Given the description of an element on the screen output the (x, y) to click on. 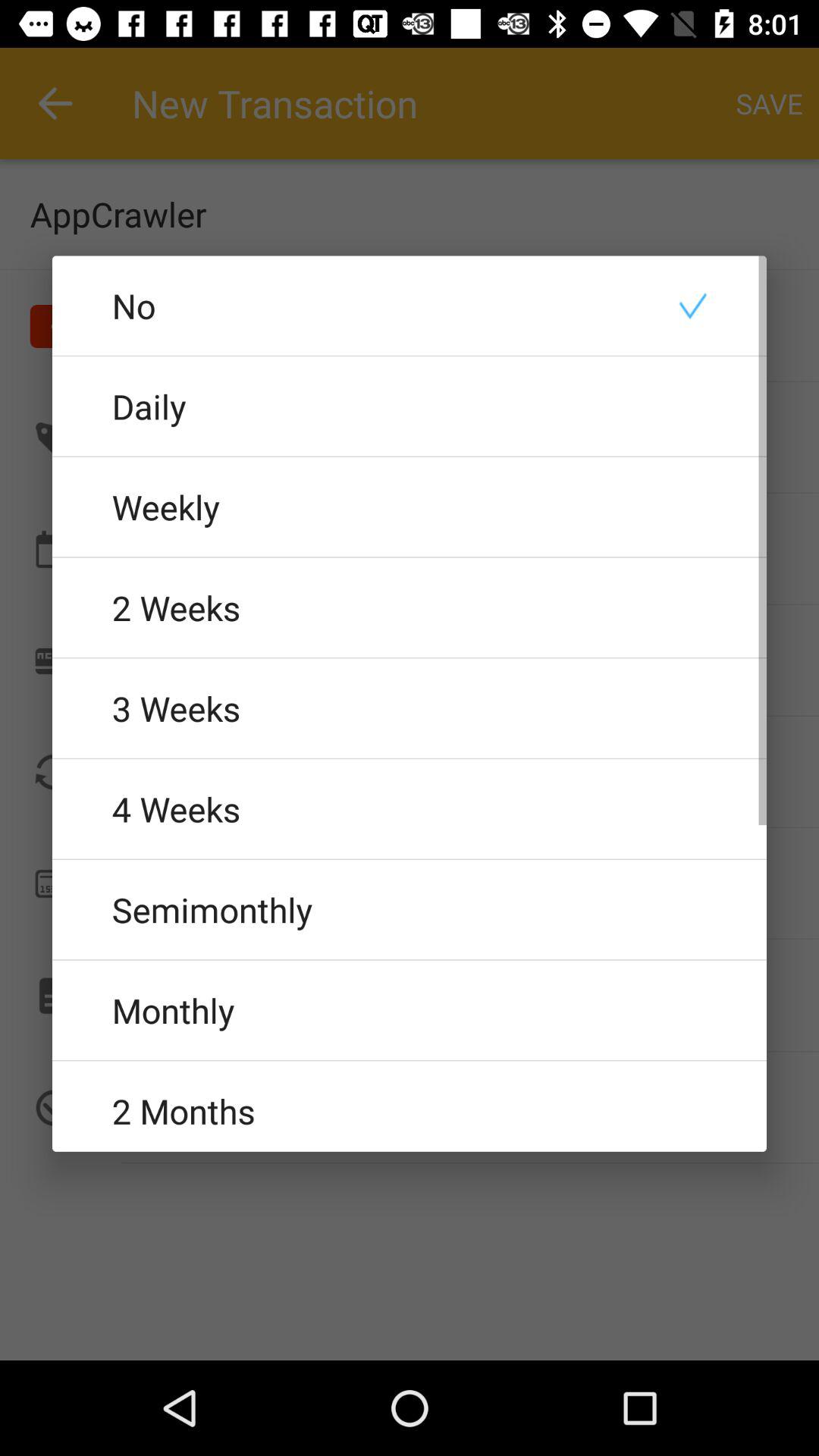
flip to the weekly radio button (409, 506)
